Given the description of an element on the screen output the (x, y) to click on. 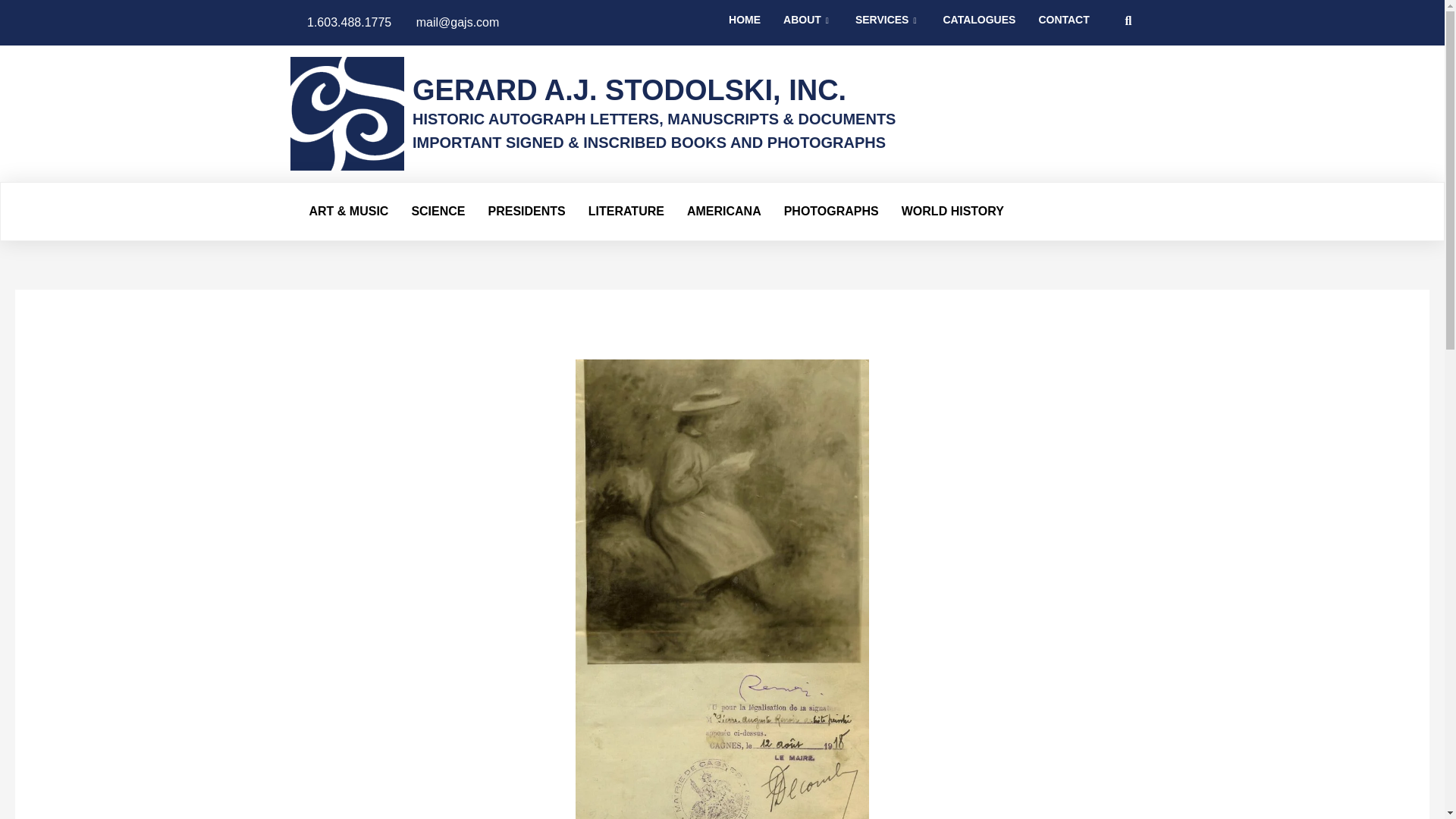
PHOTOGRAPHS (831, 211)
ABOUT (807, 25)
CONTACT (1063, 25)
PRESIDENTS (526, 211)
LITERATURE (625, 211)
1.603.488.1775 (340, 22)
SERVICES (887, 25)
HOME (744, 25)
CATALOGUES (978, 25)
AMERICANA (724, 211)
